Given the description of an element on the screen output the (x, y) to click on. 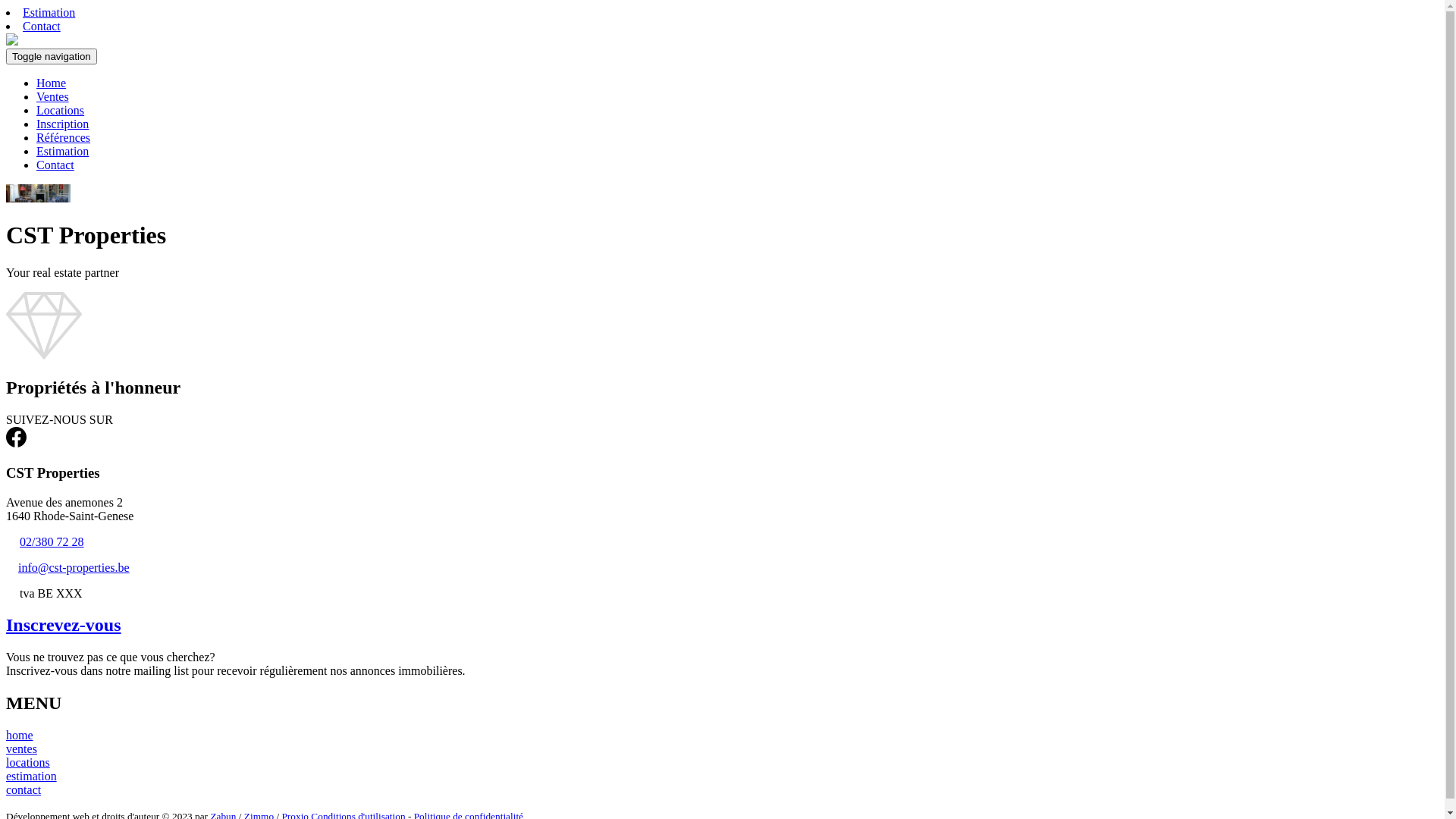
Inscrevez-vous Element type: text (63, 624)
Contact Element type: text (55, 164)
estimation Element type: text (31, 775)
home Element type: text (19, 734)
Inscription Element type: text (62, 123)
contact Element type: text (23, 789)
info@cst-properties.be Element type: text (73, 567)
Estimation Element type: text (48, 12)
locations Element type: text (28, 762)
ventes Element type: text (21, 748)
Estimation Element type: text (62, 150)
Ventes Element type: text (52, 96)
Locations Element type: text (60, 109)
02/380 72 28 Element type: text (51, 541)
Home Element type: text (50, 82)
Contact Element type: text (41, 25)
Toggle navigation Element type: text (51, 56)
